Given the description of an element on the screen output the (x, y) to click on. 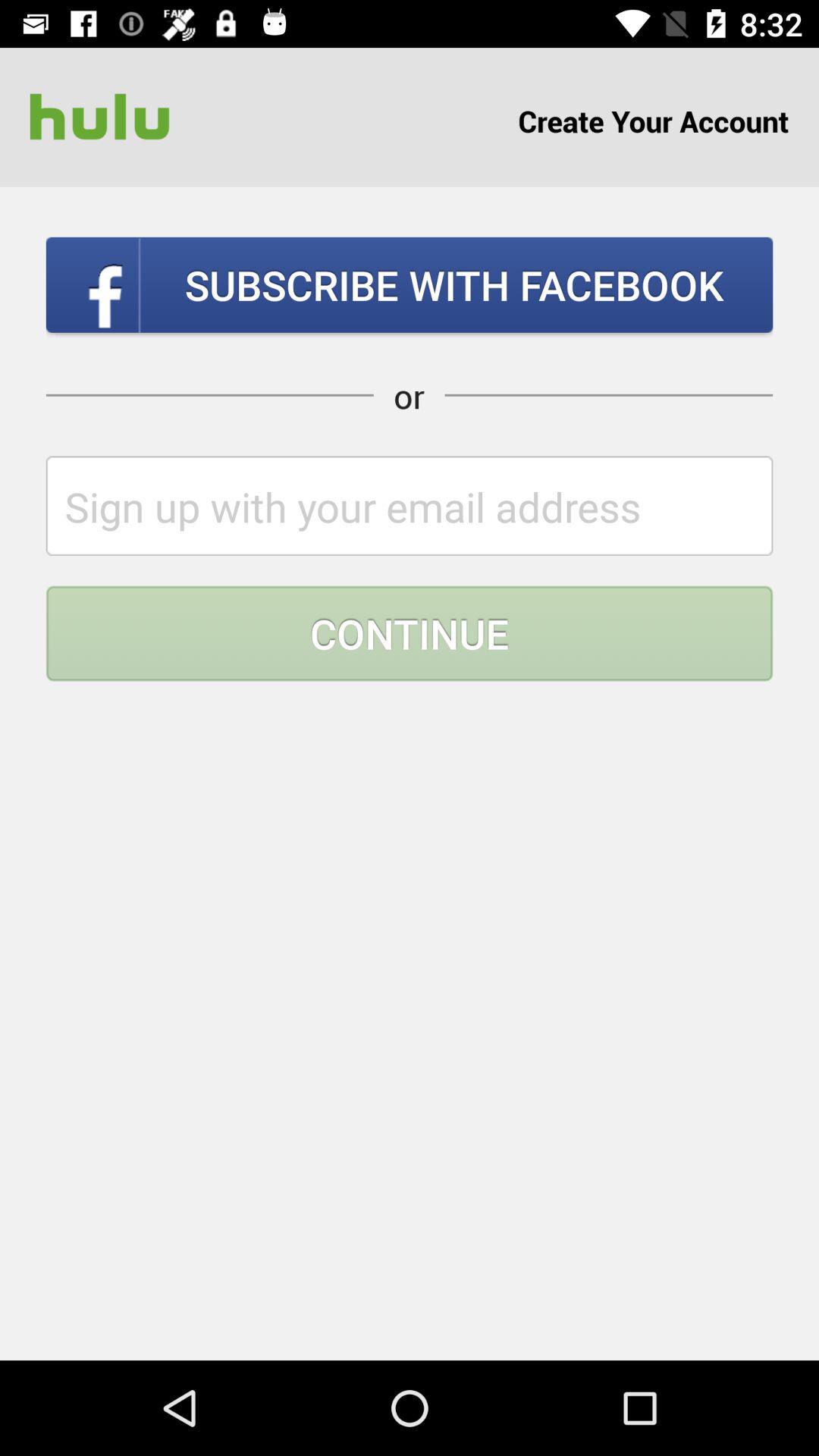
swipe to continue item (409, 633)
